Given the description of an element on the screen output the (x, y) to click on. 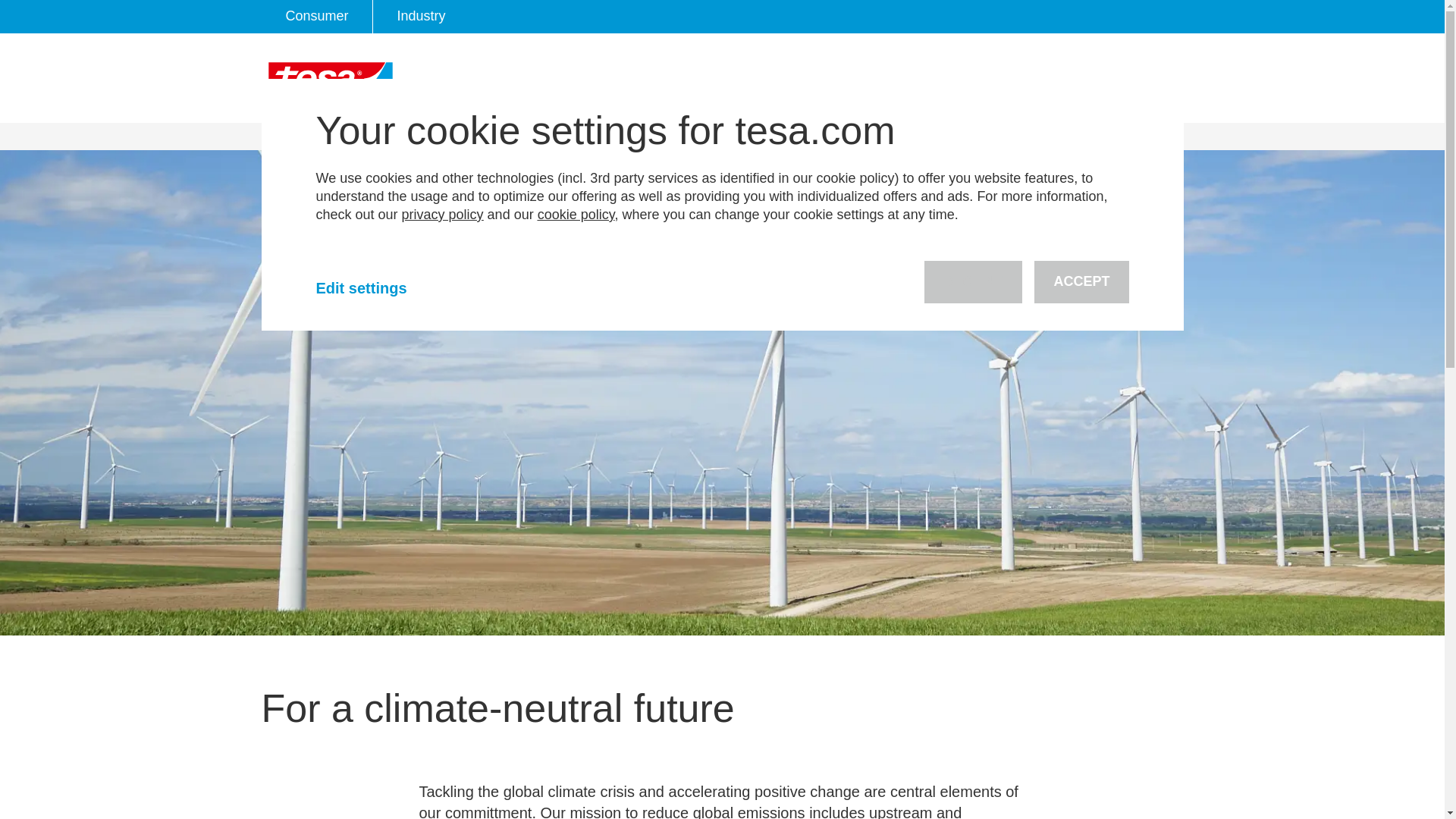
Edit settings (378, 288)
Industry (421, 16)
privacy policy (442, 214)
DECLINE (973, 282)
ACCEPT (1080, 282)
cookie policy (575, 214)
Consumer (316, 16)
